Given the description of an element on the screen output the (x, y) to click on. 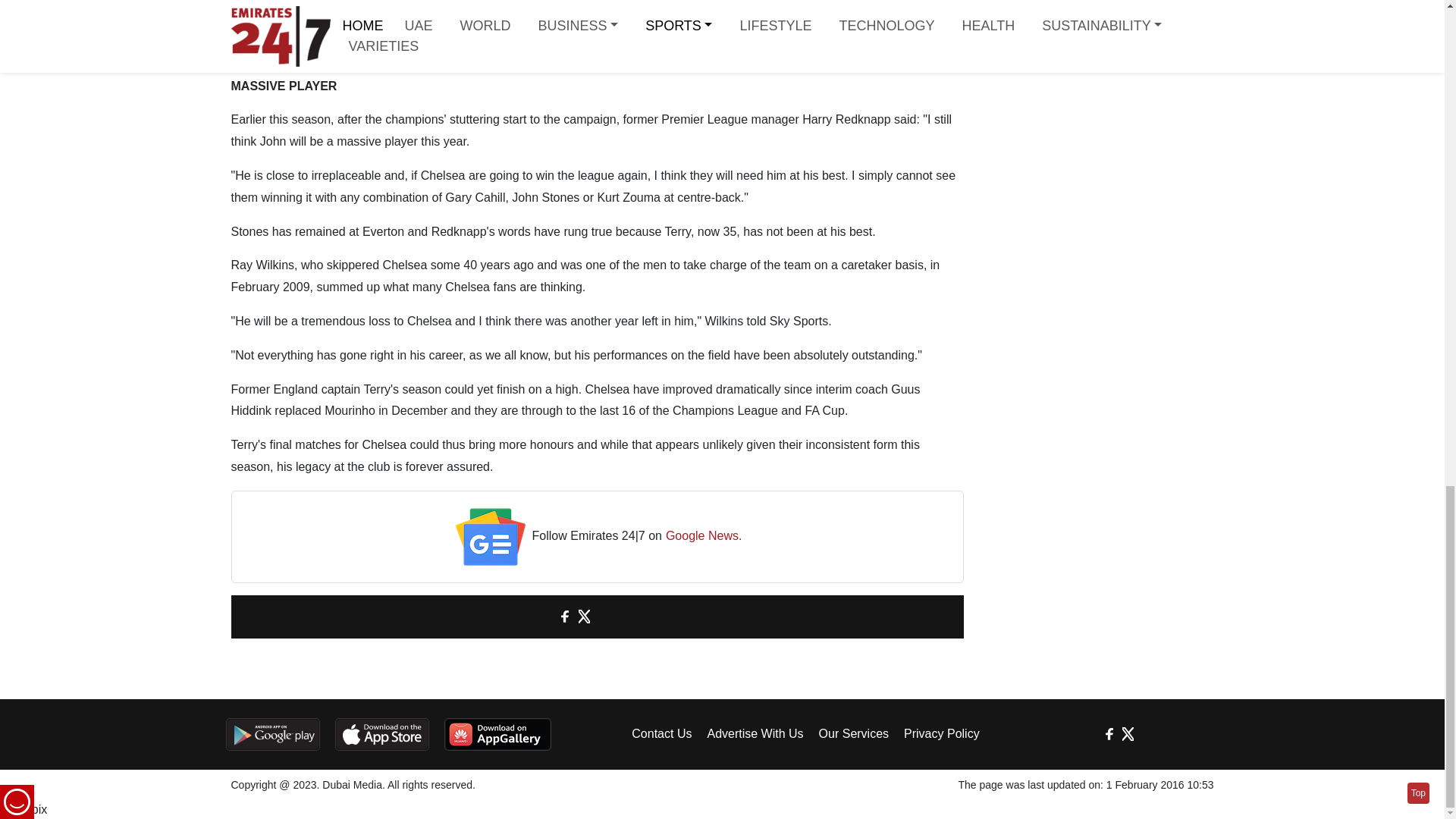
Google News. (703, 536)
